Given the description of an element on the screen output the (x, y) to click on. 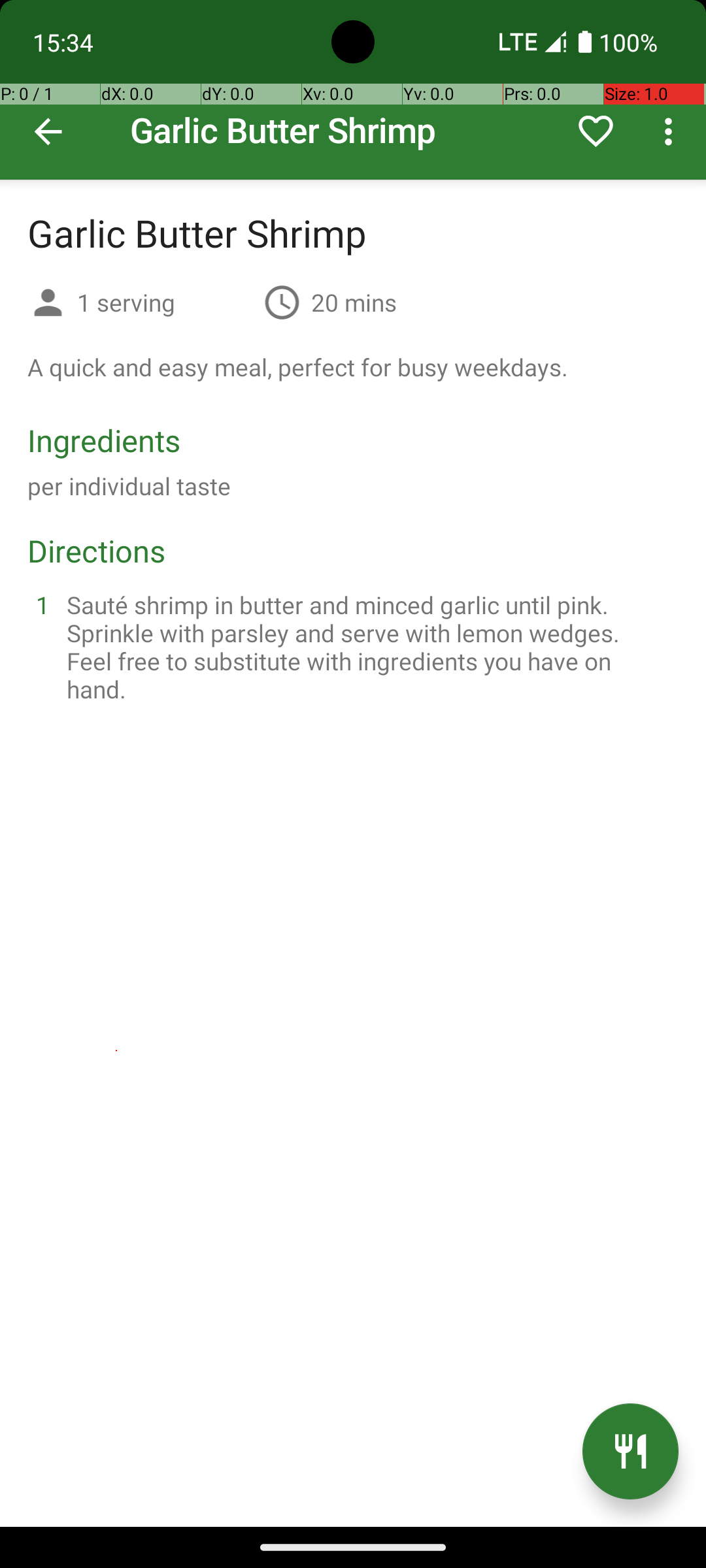
Garlic Butter Shrimp Element type: android.widget.FrameLayout (353, 89)
per individual taste Element type: android.widget.TextView (128, 485)
Sauté shrimp in butter and minced garlic until pink. Sprinkle with parsley and serve with lemon wedges. Feel free to substitute with ingredients you have on hand. Element type: android.widget.TextView (368, 646)
